Given the description of an element on the screen output the (x, y) to click on. 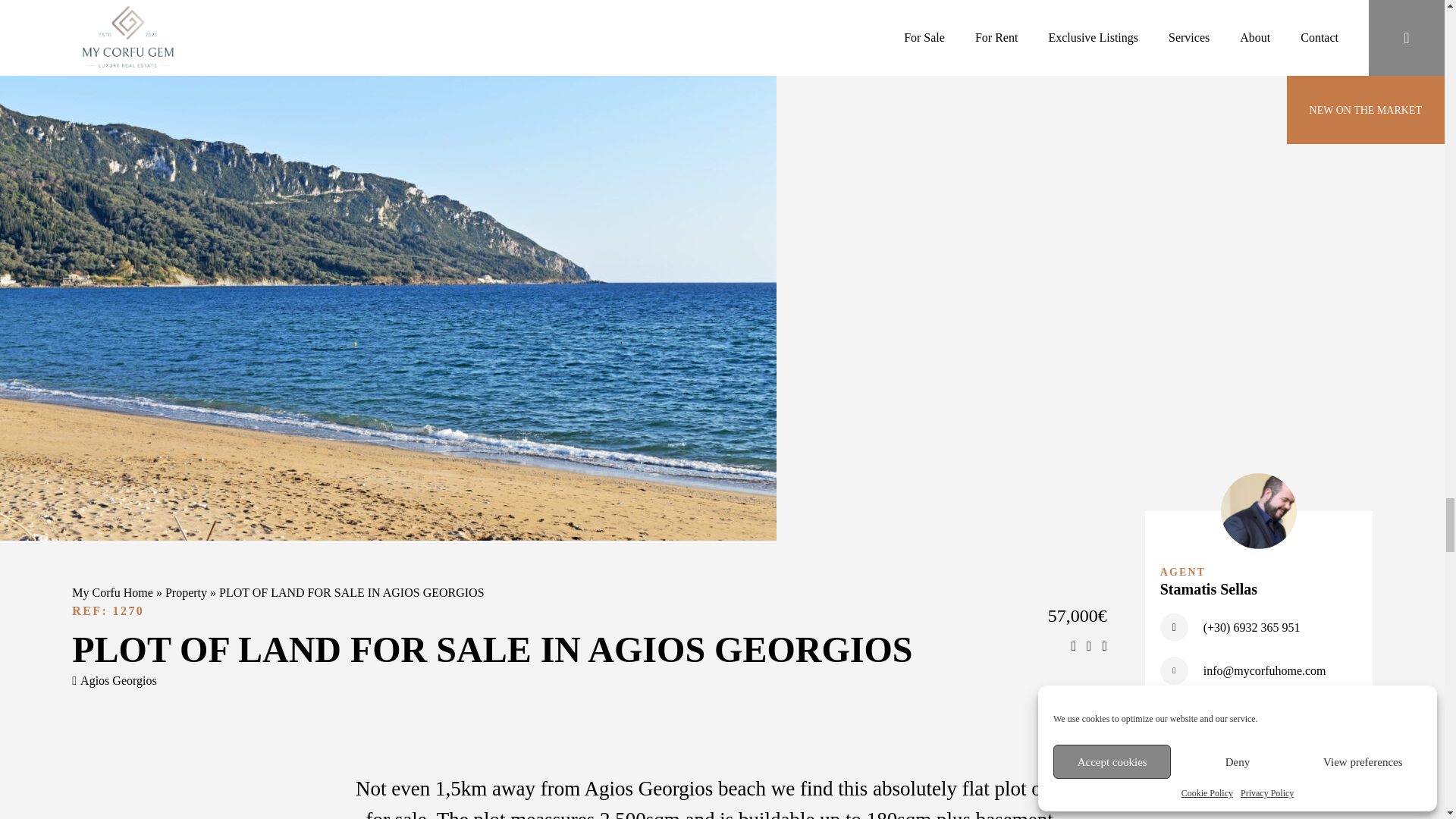
Agios Georgios (113, 680)
Property (185, 592)
ENQUIRE NOW (1258, 717)
My Corfu Home (111, 592)
